Given the description of an element on the screen output the (x, y) to click on. 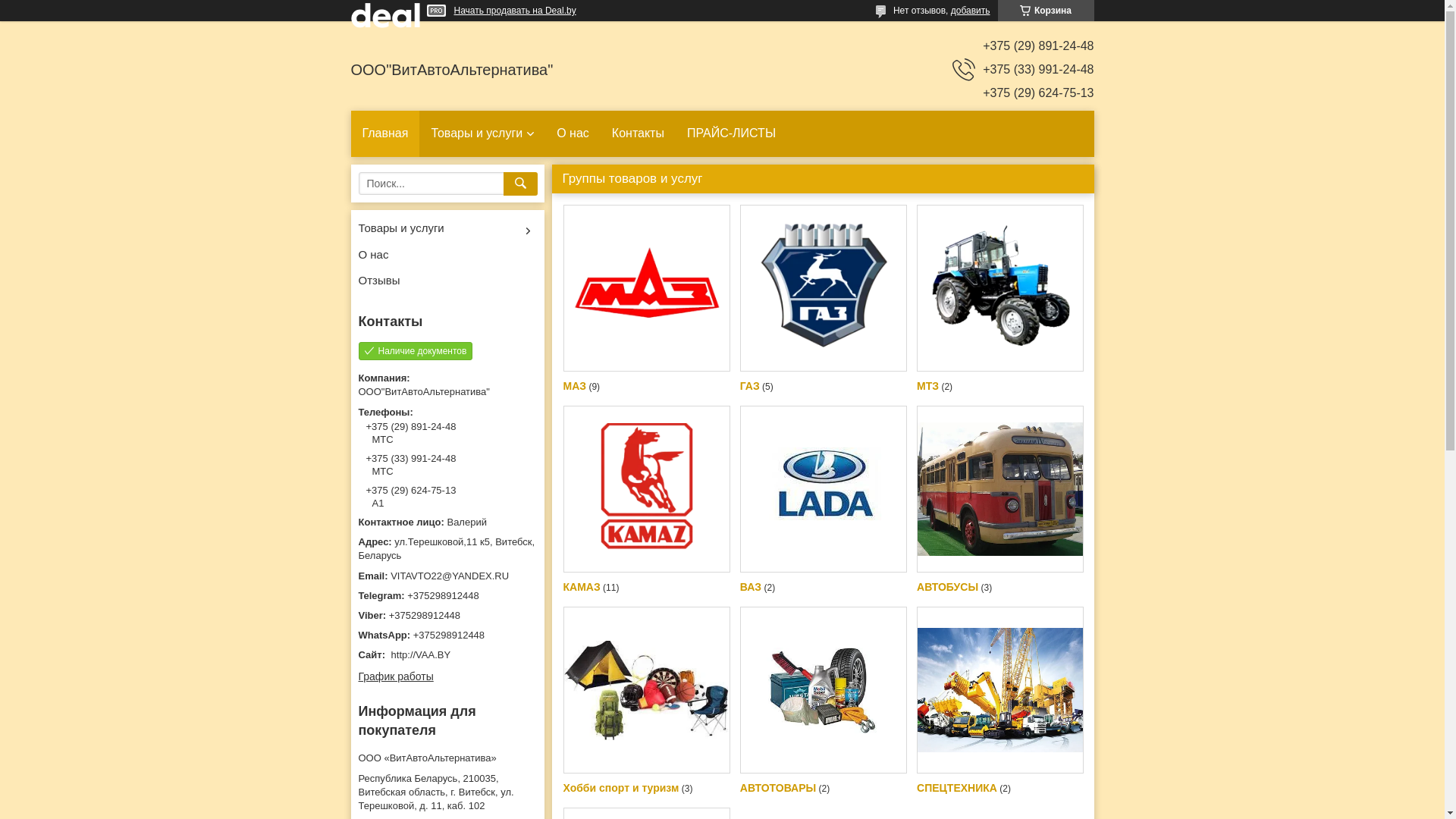
VITAVTO22@YANDEX.RU Element type: text (446, 576)
http://VAA.BY Element type: text (421, 654)
